Given the description of an element on the screen output the (x, y) to click on. 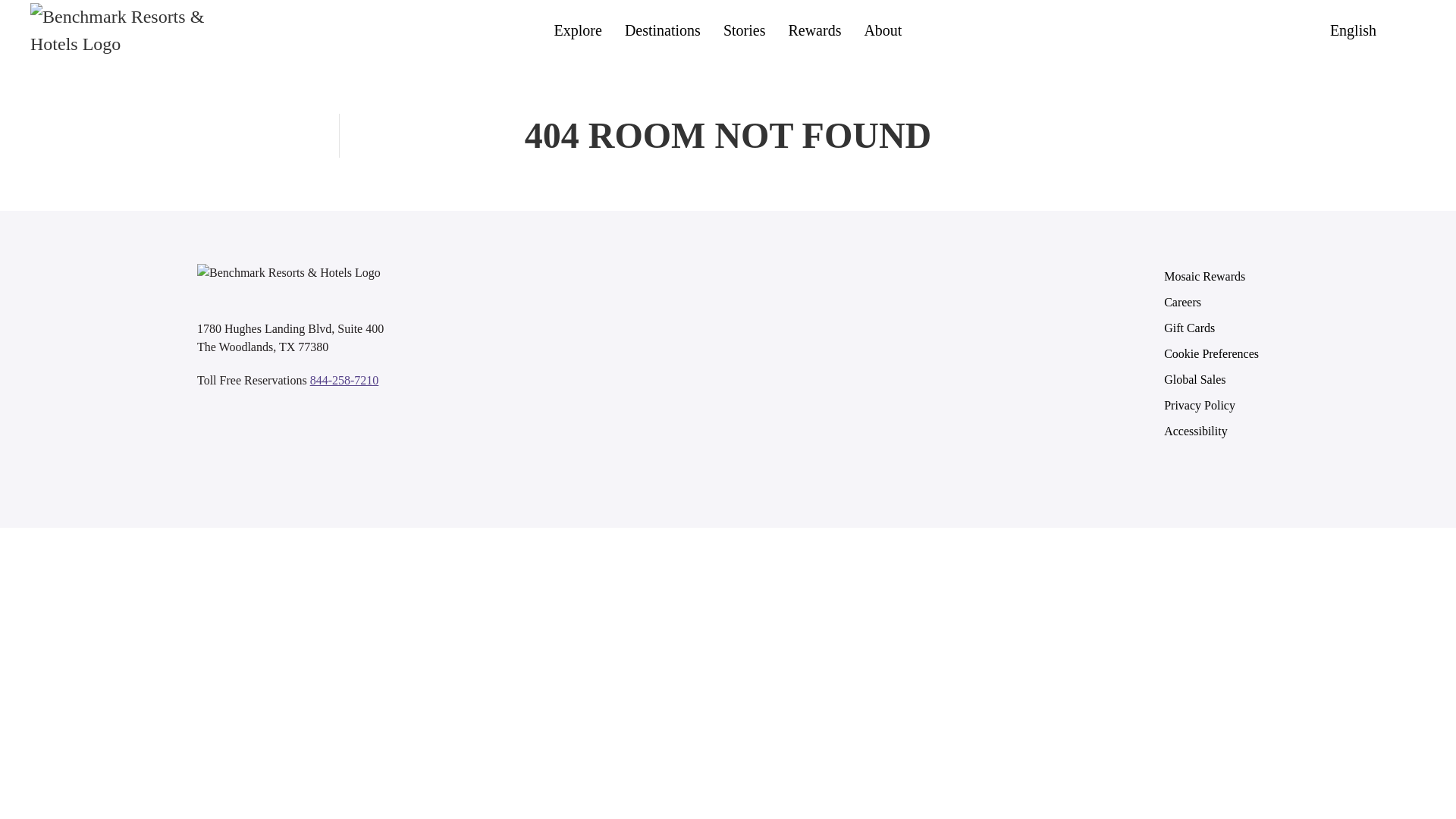
Privacy Policy (1211, 405)
Accessibility (1211, 431)
Careers (1211, 302)
Mosaic Rewards (1211, 276)
844-258-7210 (344, 379)
Gift Cards (1211, 328)
Global Sales (1211, 379)
Destinations (662, 30)
Cookie Preferences (1211, 353)
